Given the description of an element on the screen output the (x, y) to click on. 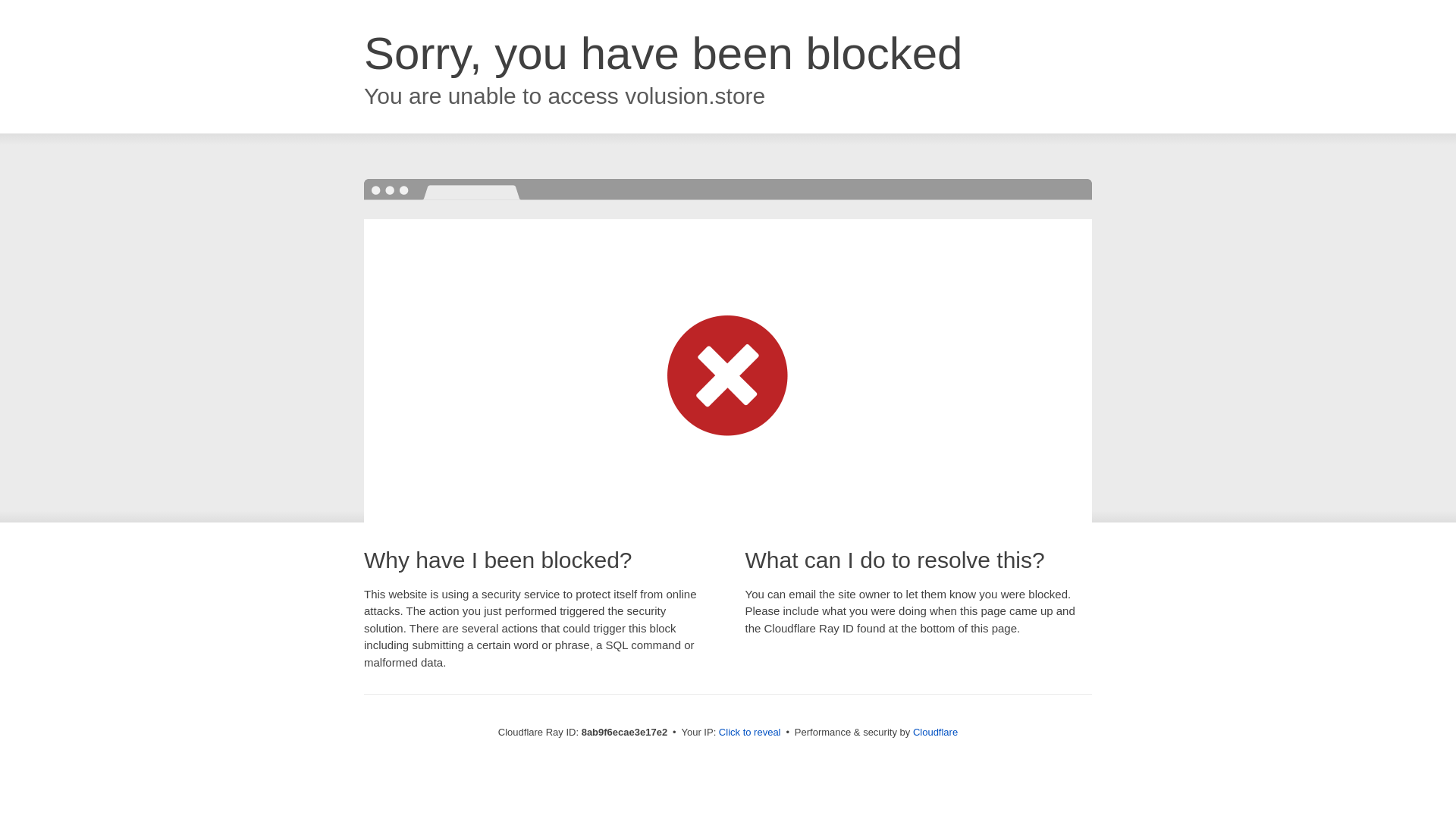
Click to reveal (749, 732)
Cloudflare (935, 731)
